Given the description of an element on the screen output the (x, y) to click on. 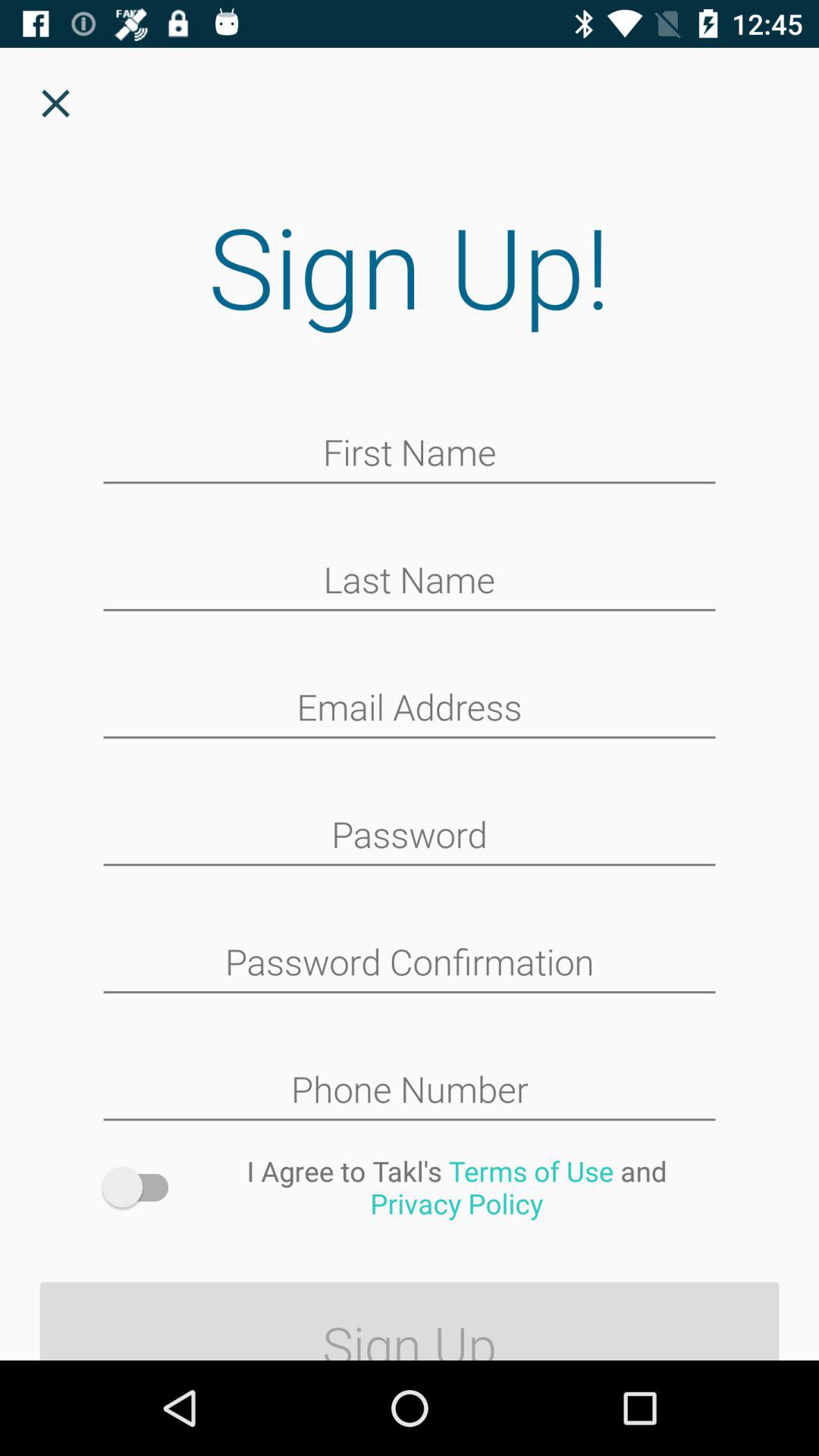
phone number (409, 1091)
